Given the description of an element on the screen output the (x, y) to click on. 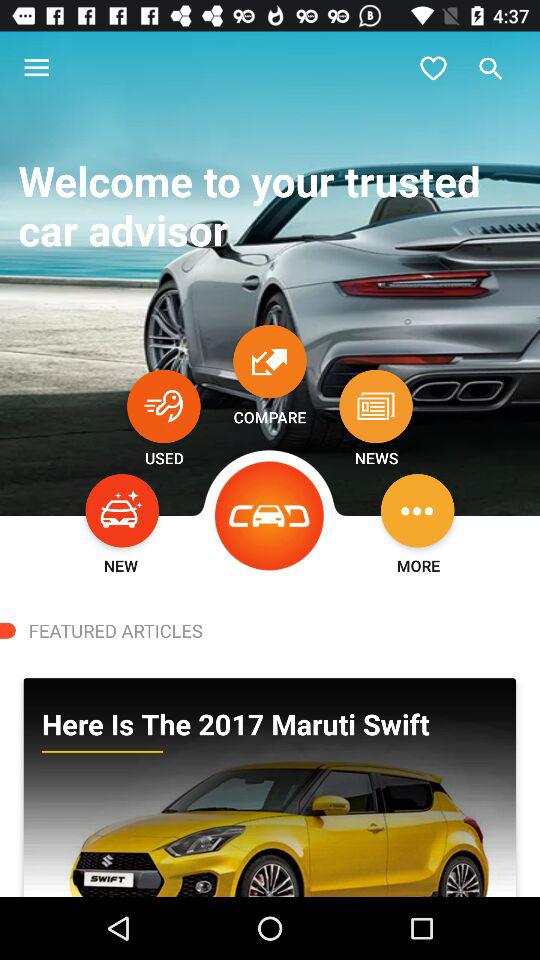
turn off item to the right of used item (269, 515)
